Given the description of an element on the screen output the (x, y) to click on. 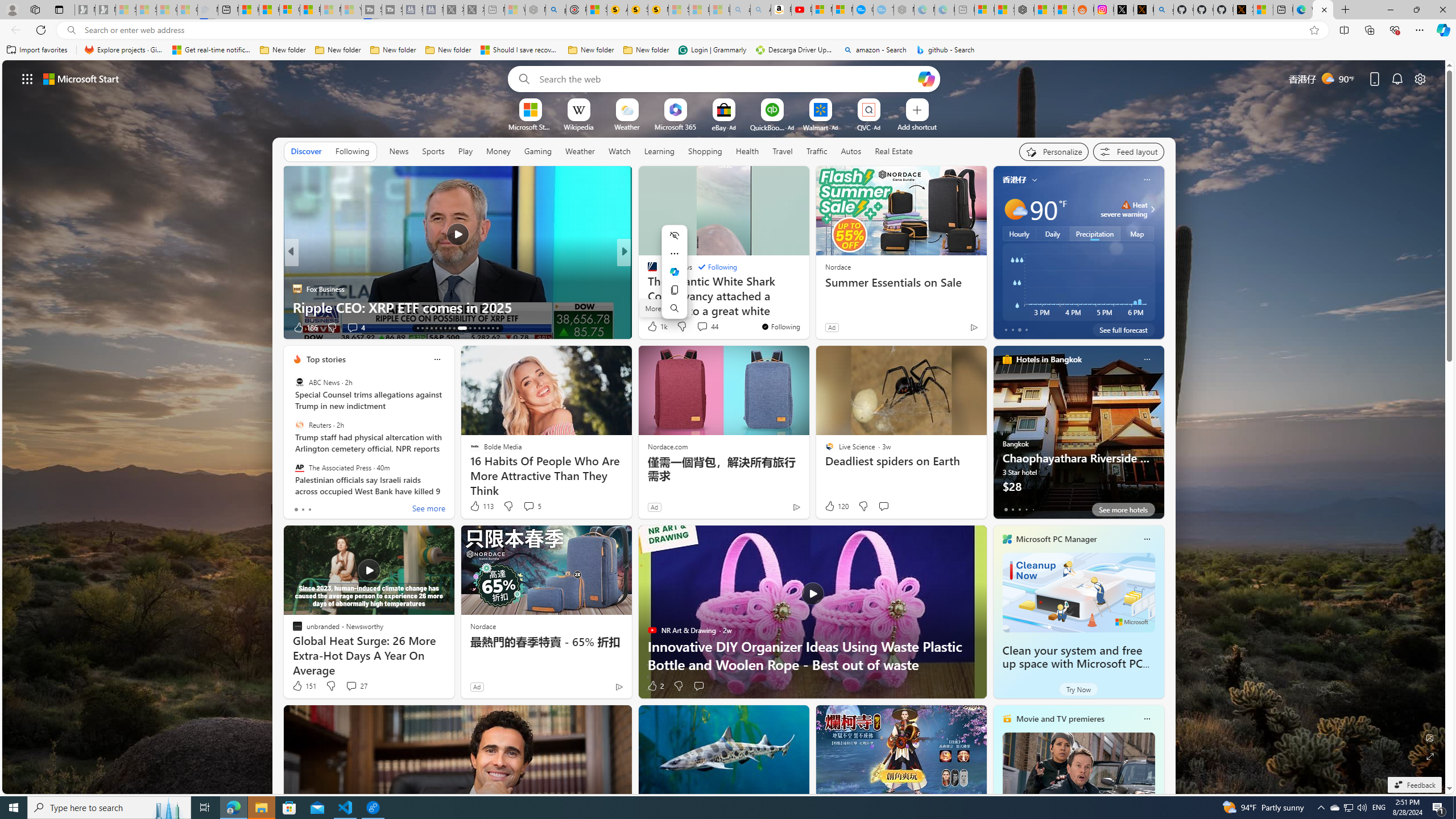
Wikipedia (578, 126)
You're following FOX News (780, 326)
Map (1137, 233)
The Associated Press (299, 466)
CNBC (647, 270)
Wildlife - MSN - Sleeping (514, 9)
USA TODAY (647, 270)
Men Share The 14 Unspoken Rules for Successful Marriage (807, 298)
Shopping (705, 151)
Michelle Starr, Senior Journalist at ScienceAlert (657, 9)
See more (428, 509)
hotels-header-icon (1006, 358)
Open Copilot (926, 78)
View comments 4 Comment (698, 327)
